Given the description of an element on the screen output the (x, y) to click on. 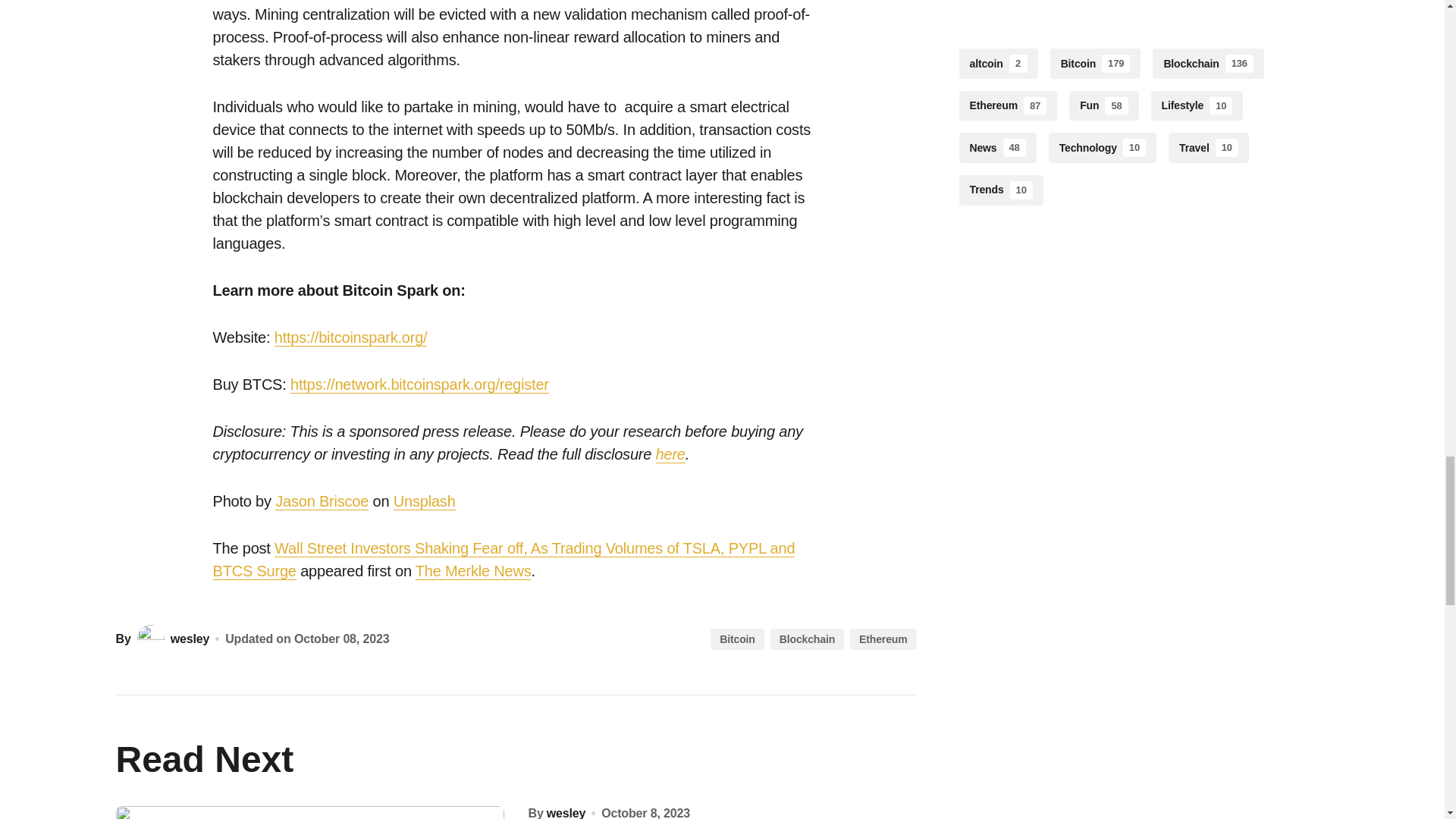
Jason Briscoe (321, 501)
here (670, 454)
Bitcoin (736, 639)
Unsplash (424, 501)
wesley (171, 637)
The Merkle News (472, 570)
